Given the description of an element on the screen output the (x, y) to click on. 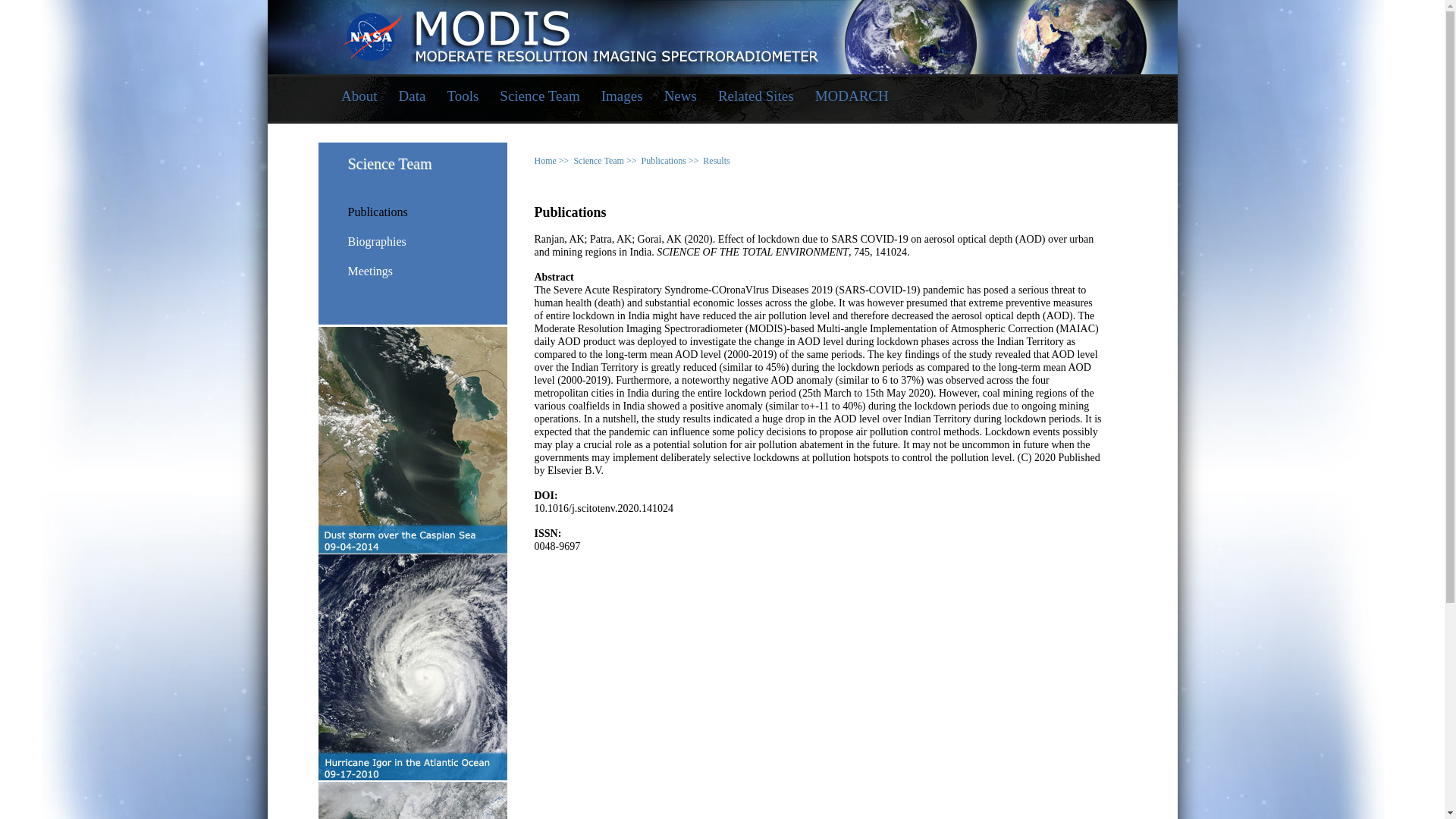
About (358, 96)
Data (412, 96)
Link To NASA website (722, 28)
